Given the description of an element on the screen output the (x, y) to click on. 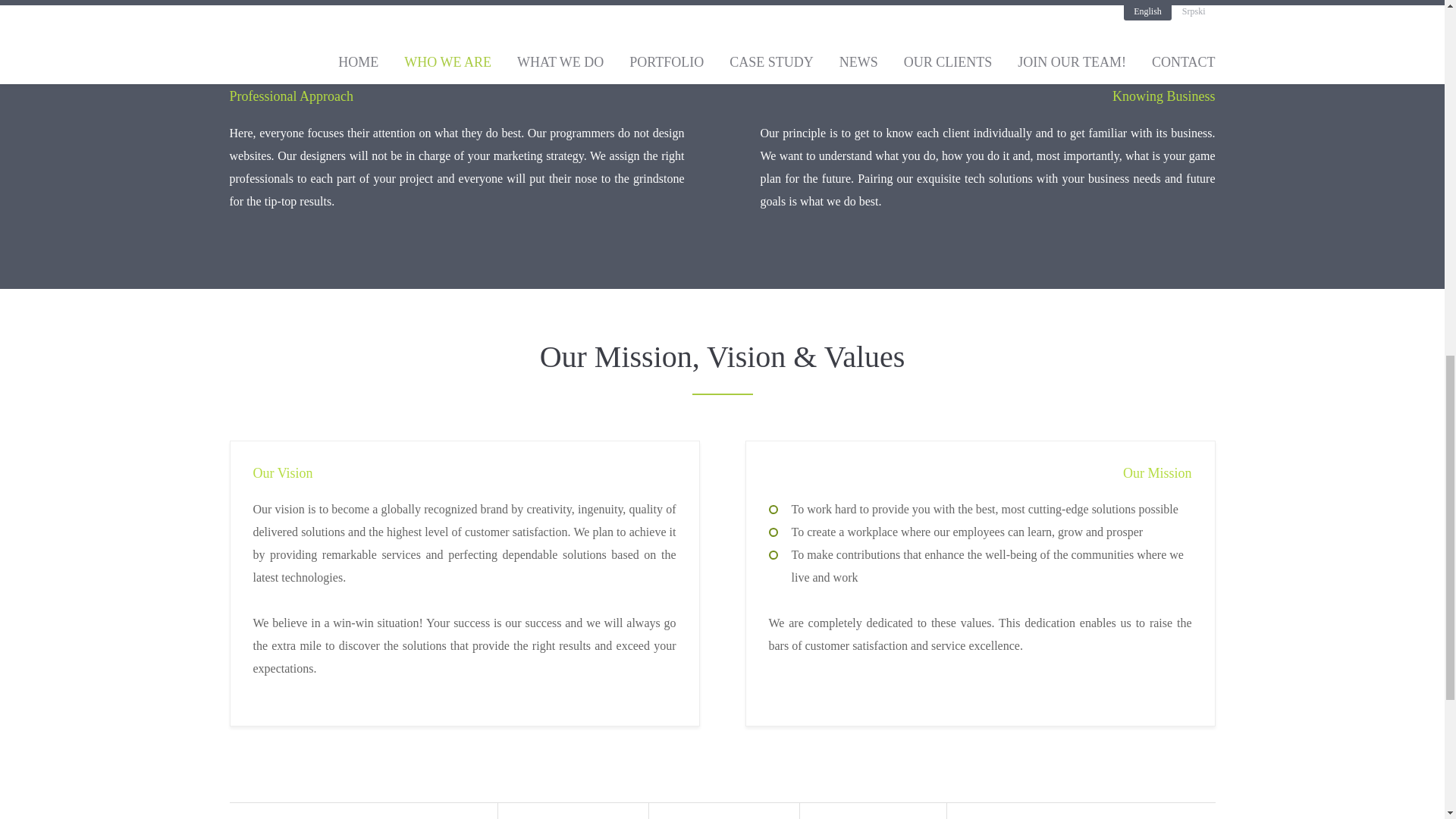
Working With Us (872, 816)
Our Story (571, 816)
Our Team (722, 816)
